Given the description of an element on the screen output the (x, y) to click on. 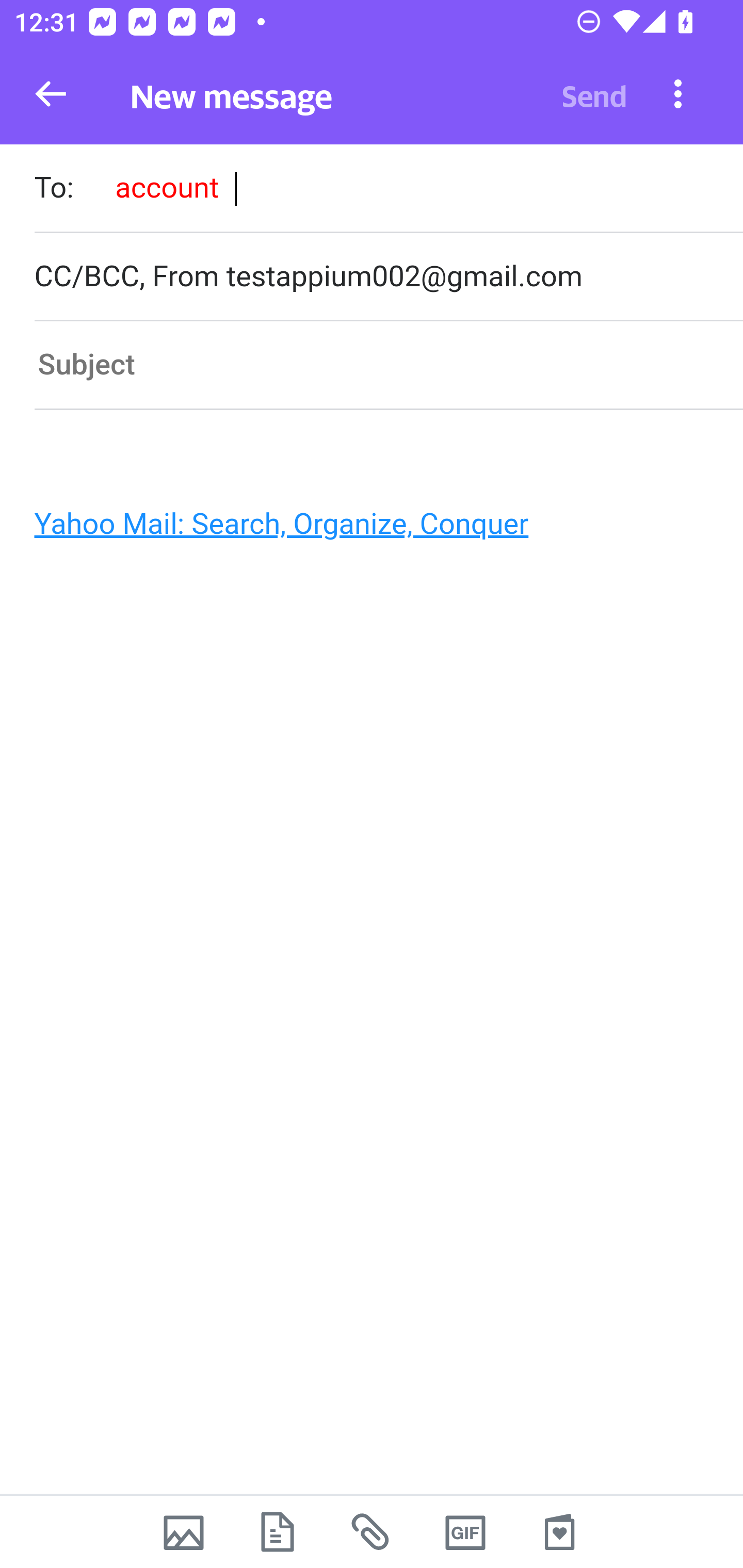
Back (50, 93)
Send (594, 93)
More options (677, 93)
To: account (387, 189)
account (166, 187)
CC/BCC, From testappium002@gmail.com (387, 276)


Yahoo Mail: Search, Organize, Conquer (363, 528)
Camera photos (183, 1531)
Device files (277, 1531)
Recent attachments from mail (371, 1531)
GIFs (465, 1531)
Stationery (559, 1531)
